Given the description of an element on the screen output the (x, y) to click on. 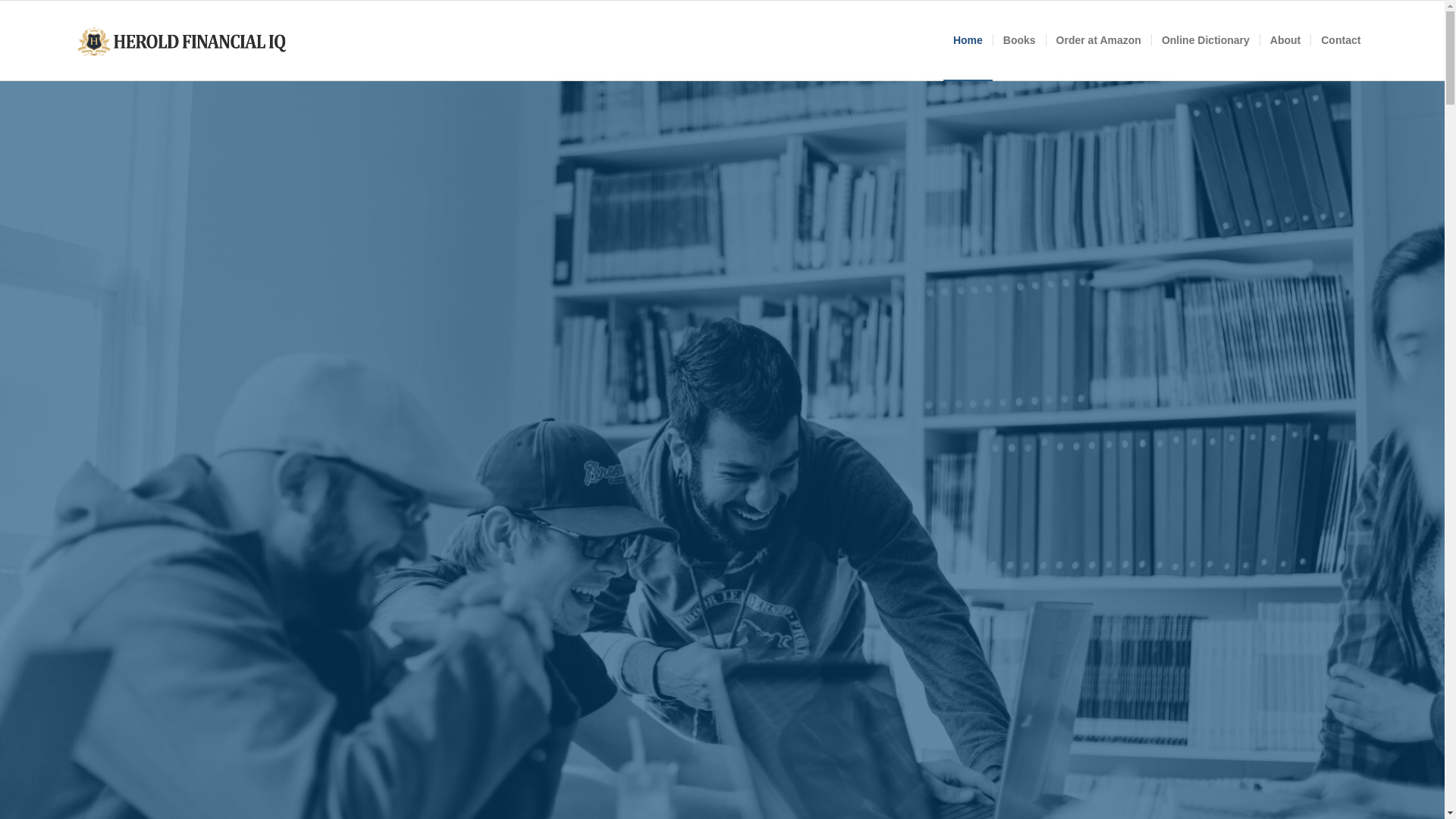
Online Dictionary (1205, 40)
Order at Amazon (1098, 40)
Logo Financial IQ (191, 40)
